Given the description of an element on the screen output the (x, y) to click on. 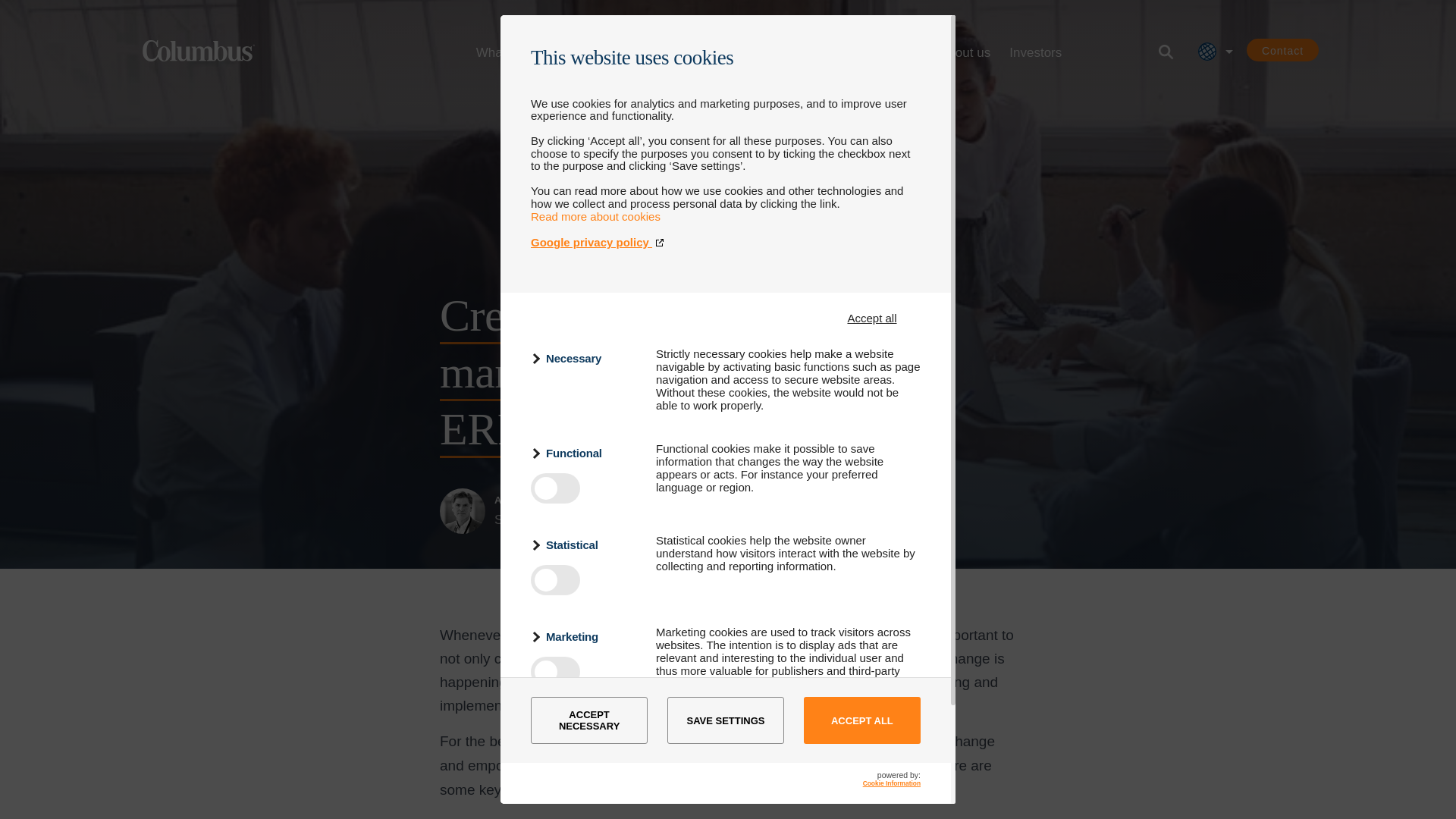
Google privacy policy (725, 242)
Read more about cookies (596, 215)
Statistical (584, 544)
Functional (584, 453)
Necessary (584, 358)
Marketing (584, 636)
Accept all (872, 318)
